Given the description of an element on the screen output the (x, y) to click on. 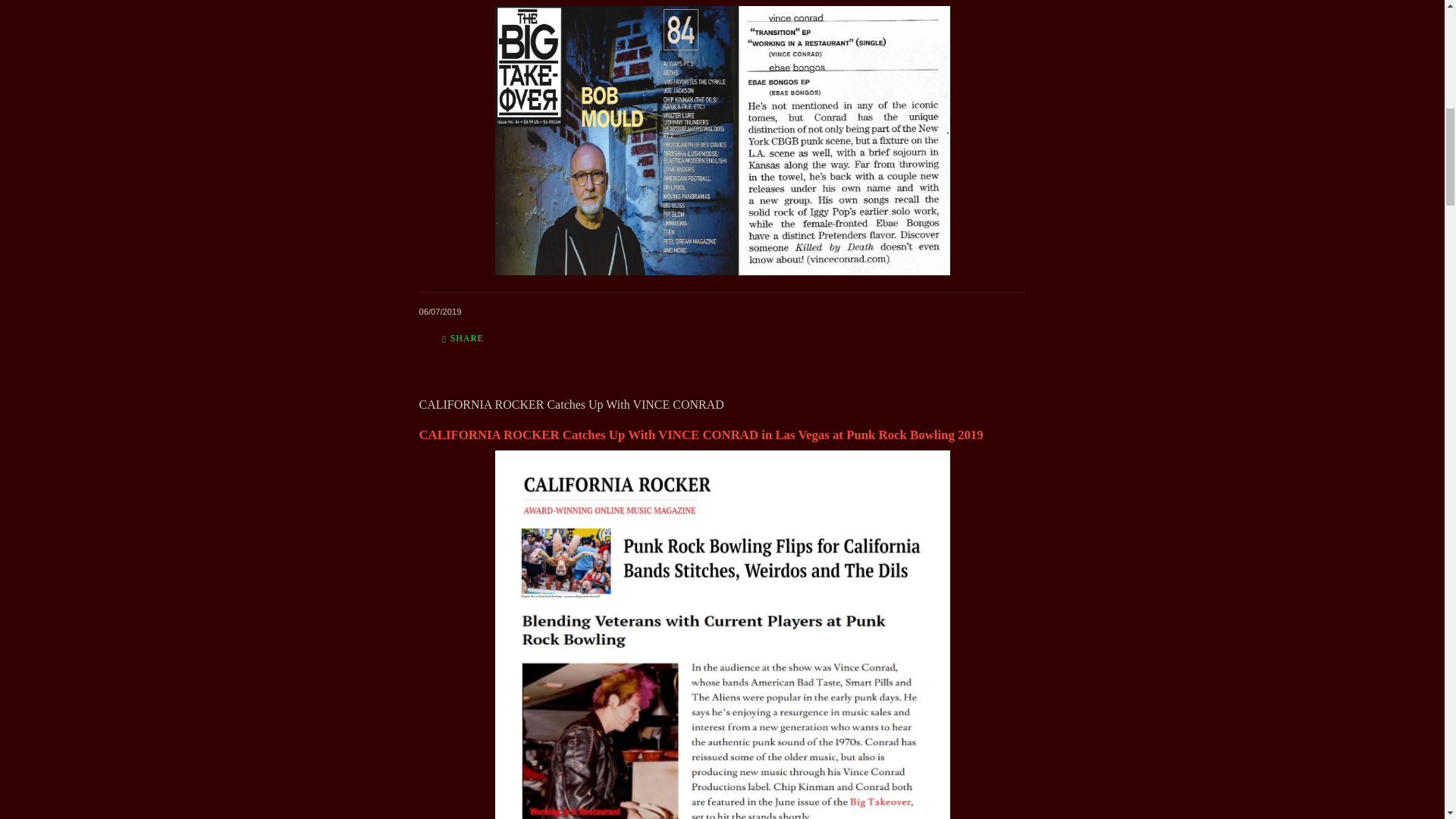
SHARE (462, 337)
Share BIG TAKEOVER MAGAZINE - Reviews New VCP Releases  (462, 337)
CALIFORNIA ROCKER Catches Up With VINCE CONRAD (571, 404)
June 07, 2019 16:01 (440, 311)
